Given the description of an element on the screen output the (x, y) to click on. 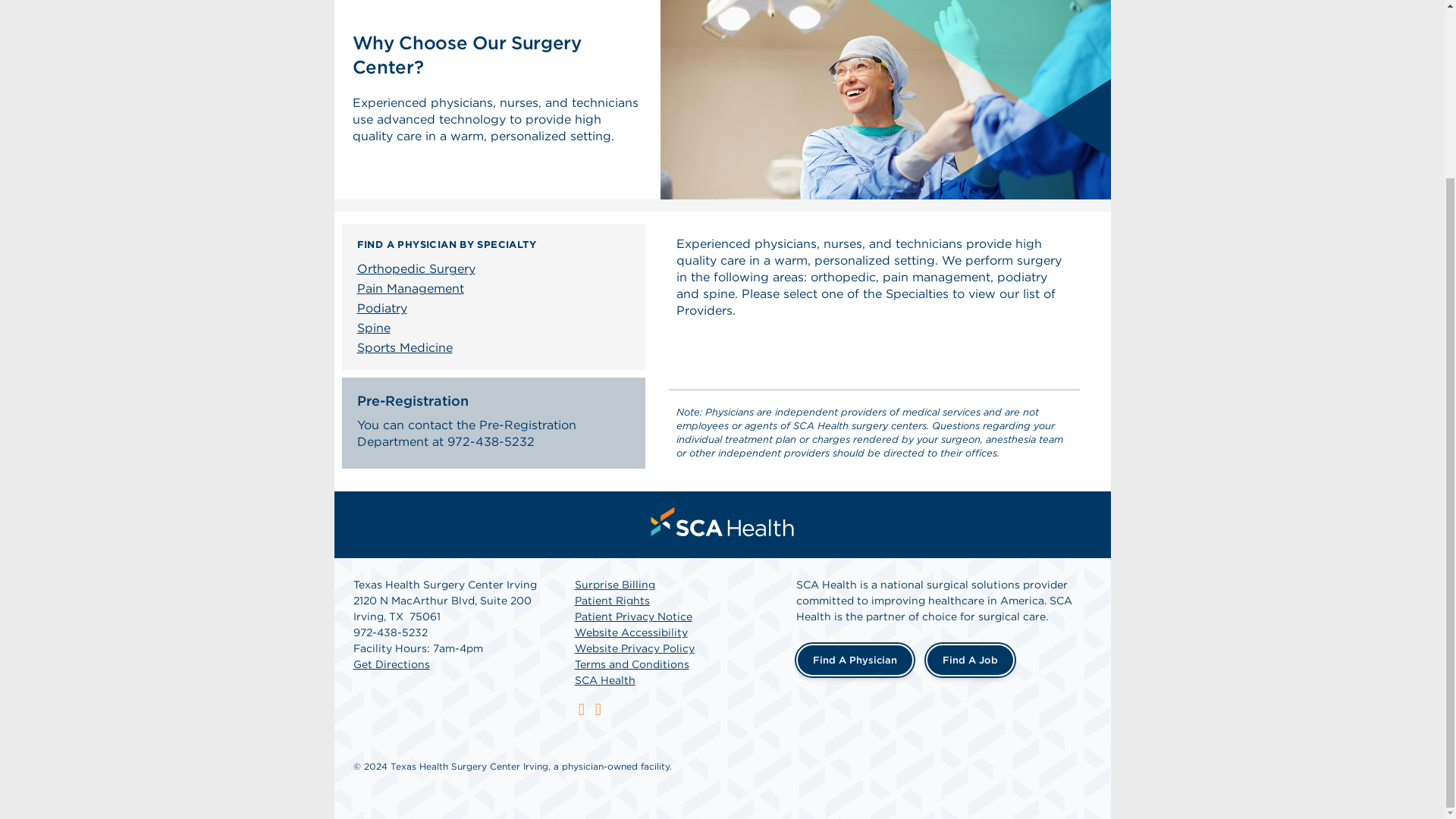
Patient Privacy Notice (634, 616)
Website Accessibility (631, 632)
Pain Management (496, 288)
Orthopedic Surgery (496, 269)
Spine (496, 328)
Podiatry (496, 308)
Surprise Billing (615, 584)
Sports Medicine (496, 347)
Get Directions (391, 664)
Patient Rights (612, 600)
